Given the description of an element on the screen output the (x, y) to click on. 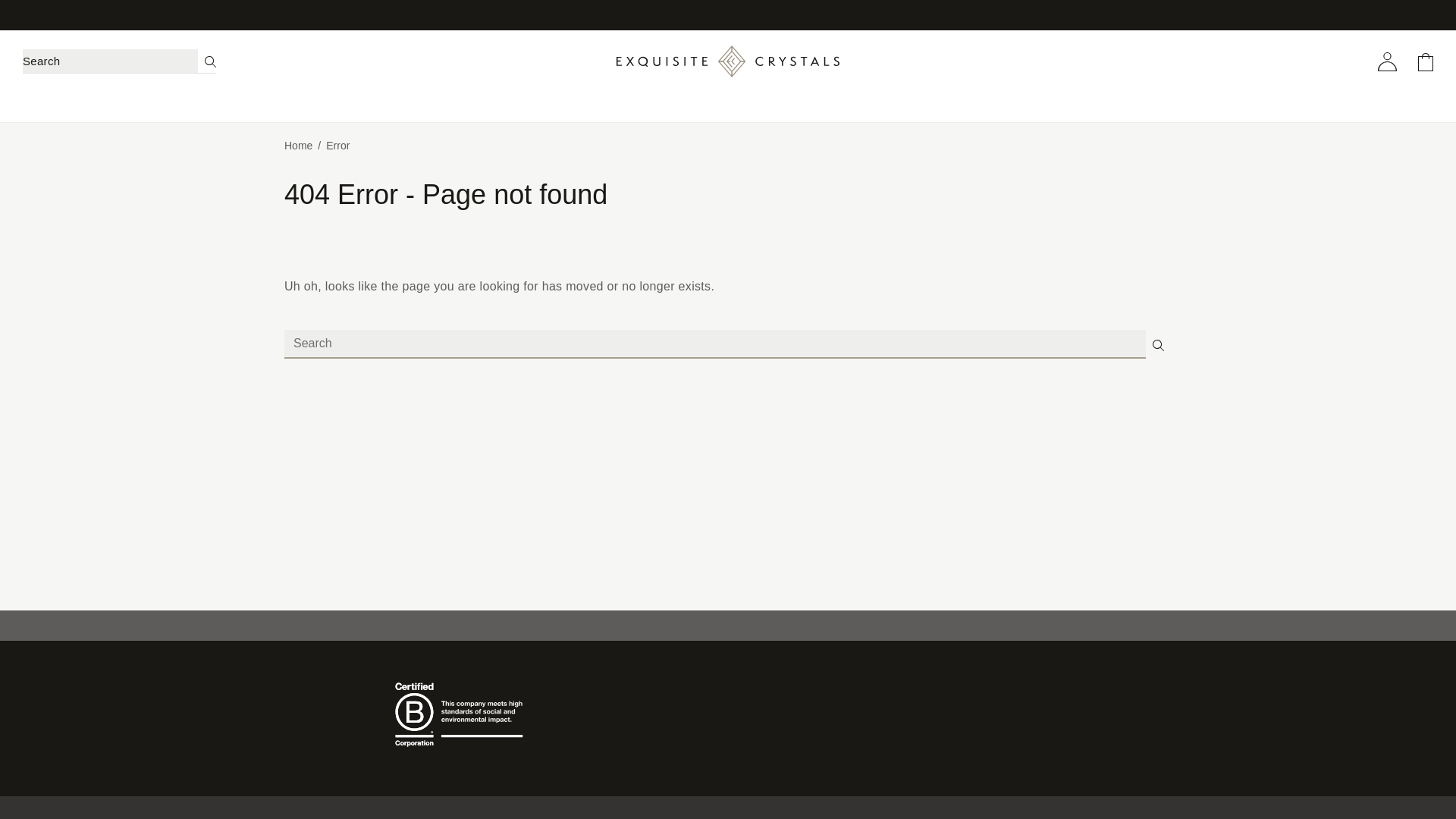
Home (298, 145)
Account (1386, 60)
Exquisite Crystals (726, 60)
Error (337, 145)
Certified Benefits Corporation (462, 714)
Search (1158, 344)
